Given the description of an element on the screen output the (x, y) to click on. 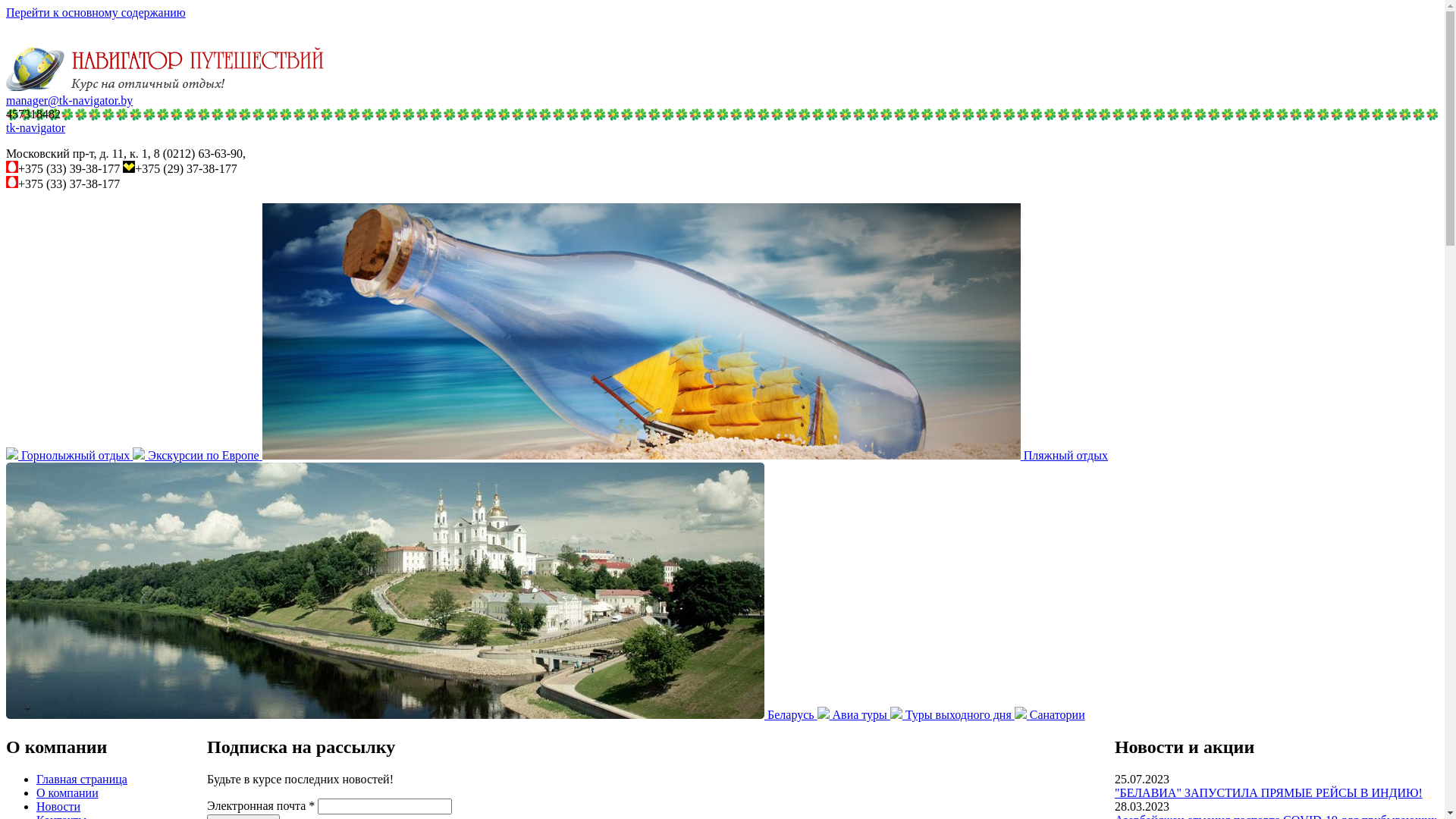
tk-navigator Element type: text (35, 127)
manager@tk-navigator.by Element type: text (69, 100)
